Given the description of an element on the screen output the (x, y) to click on. 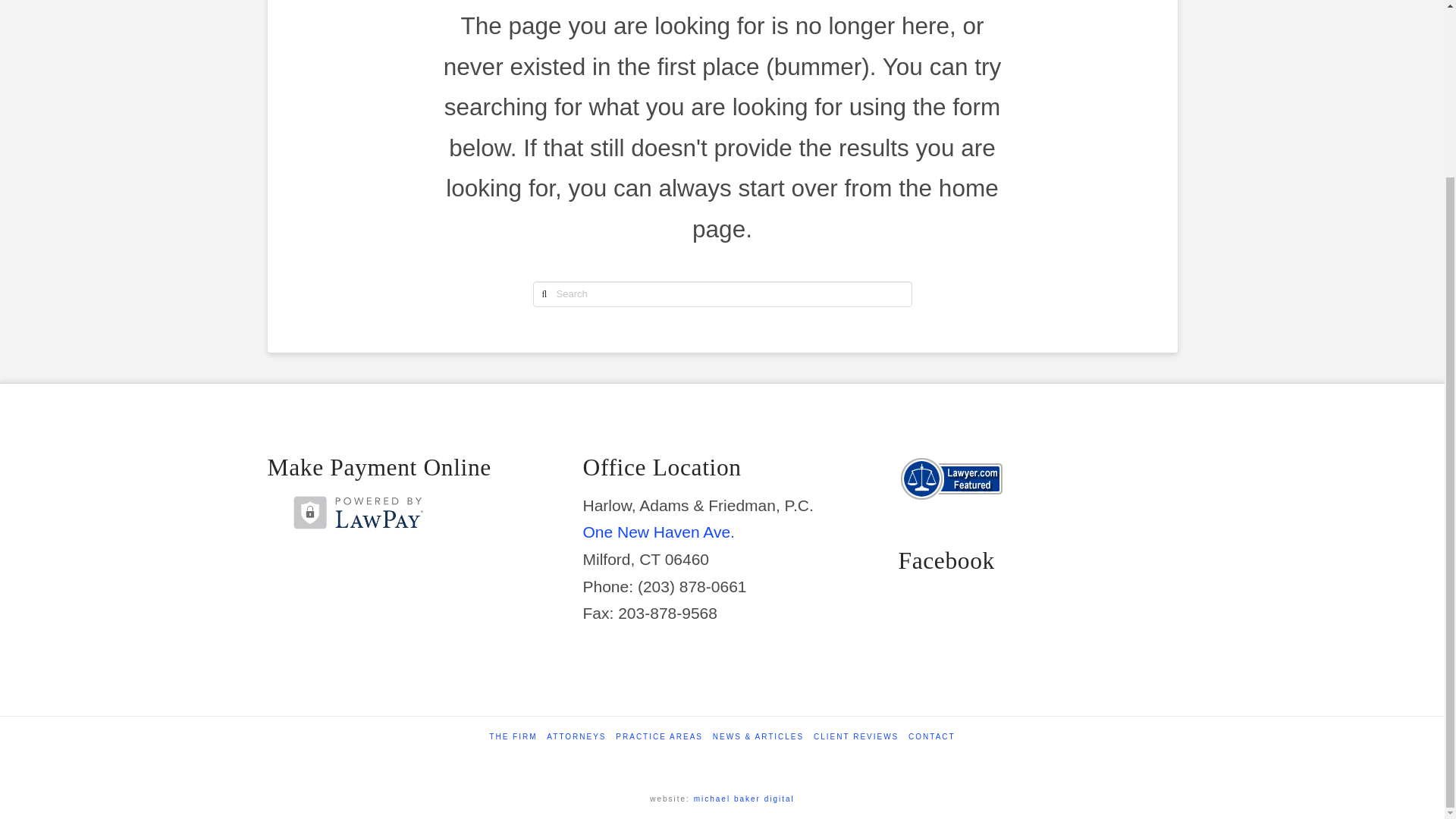
THE FIRM (513, 737)
CLIENT REVIEWS (855, 737)
michael baker digital (744, 798)
One New Haven Ave. (657, 531)
ATTORNEYS (576, 737)
PRACTICE AREAS (659, 737)
CONTACT (931, 737)
